Given the description of an element on the screen output the (x, y) to click on. 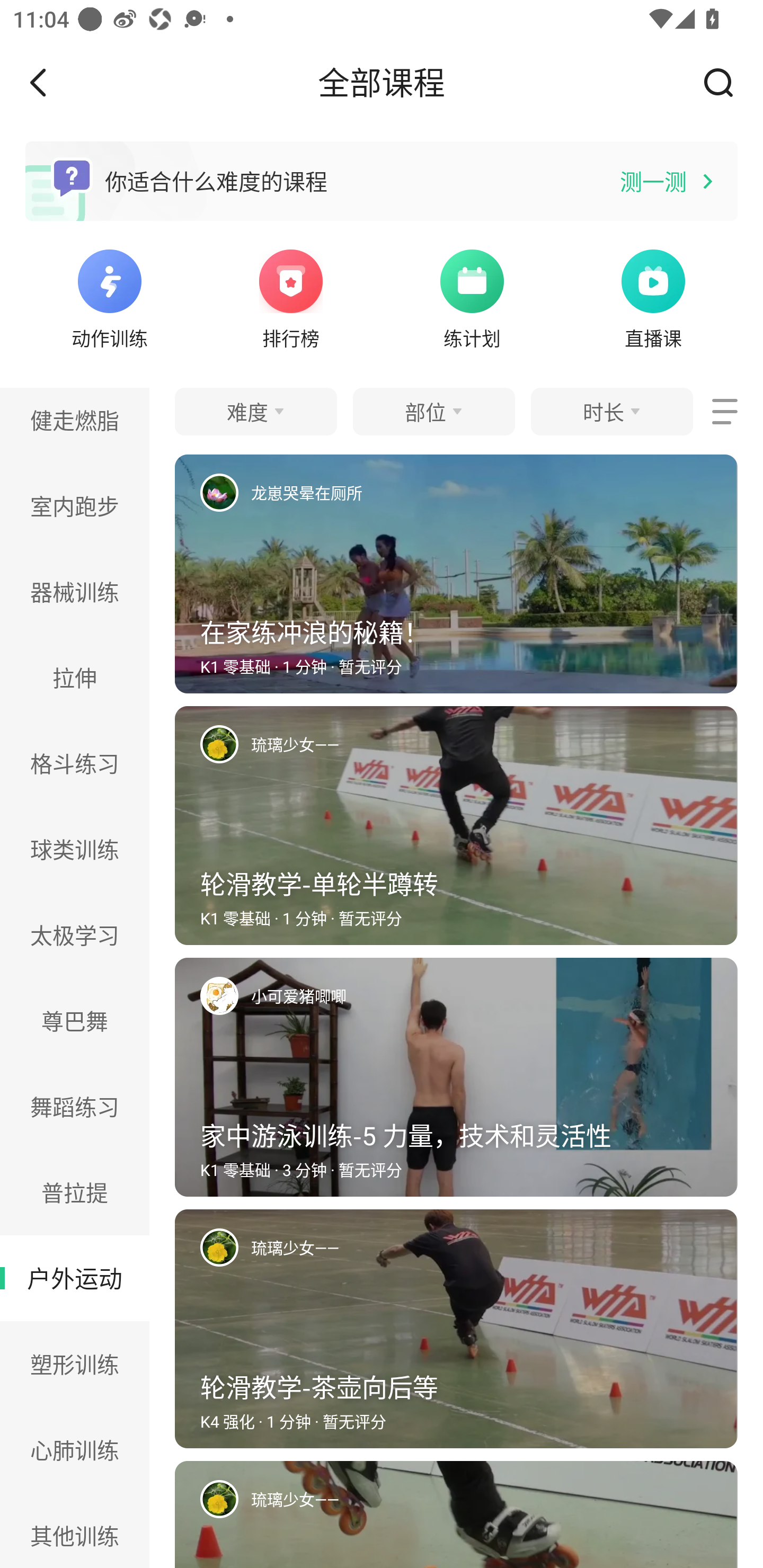
Left Button In Title Bar (50, 82)
Right Button In Title Bar (724, 82)
你适合什么难度的课程 测一测 (381, 181)
动作训练 (109, 297)
排行榜 (290, 297)
练计划 (471, 297)
直播课 (653, 297)
健走燃脂 (74, 424)
难度 (255, 411)
部位 (433, 411)
时长 (611, 411)
龙崽哭晕在厕所 在家练冲浪的秘籍！ K1 零基础 · 1 分钟 · 暂无评分 (456, 579)
室内跑步 (74, 505)
器械训练 (74, 591)
拉伸 (74, 677)
琉璃少女—— 轮滑教学-单轮半蹲转 K1 零基础 · 1 分钟 · 暂无评分 (456, 831)
格斗练习 (74, 762)
球类训练 (74, 848)
太极学习 (74, 935)
小可爱猪唧唧 家中游泳训练-5 力量，技术和灵活性 K1 零基础 · 3 分钟 · 暂无评分 (456, 1083)
尊巴舞 (74, 1020)
舞蹈练习 (74, 1106)
普拉提 (74, 1192)
琉璃少女—— 轮滑教学-茶壶向后等 K4 强化 · 1 分钟 · 暂无评分 (456, 1334)
户外运动 (74, 1278)
塑形训练 (74, 1363)
心肺训练 (74, 1449)
其他训练 (74, 1530)
